Given the description of an element on the screen output the (x, y) to click on. 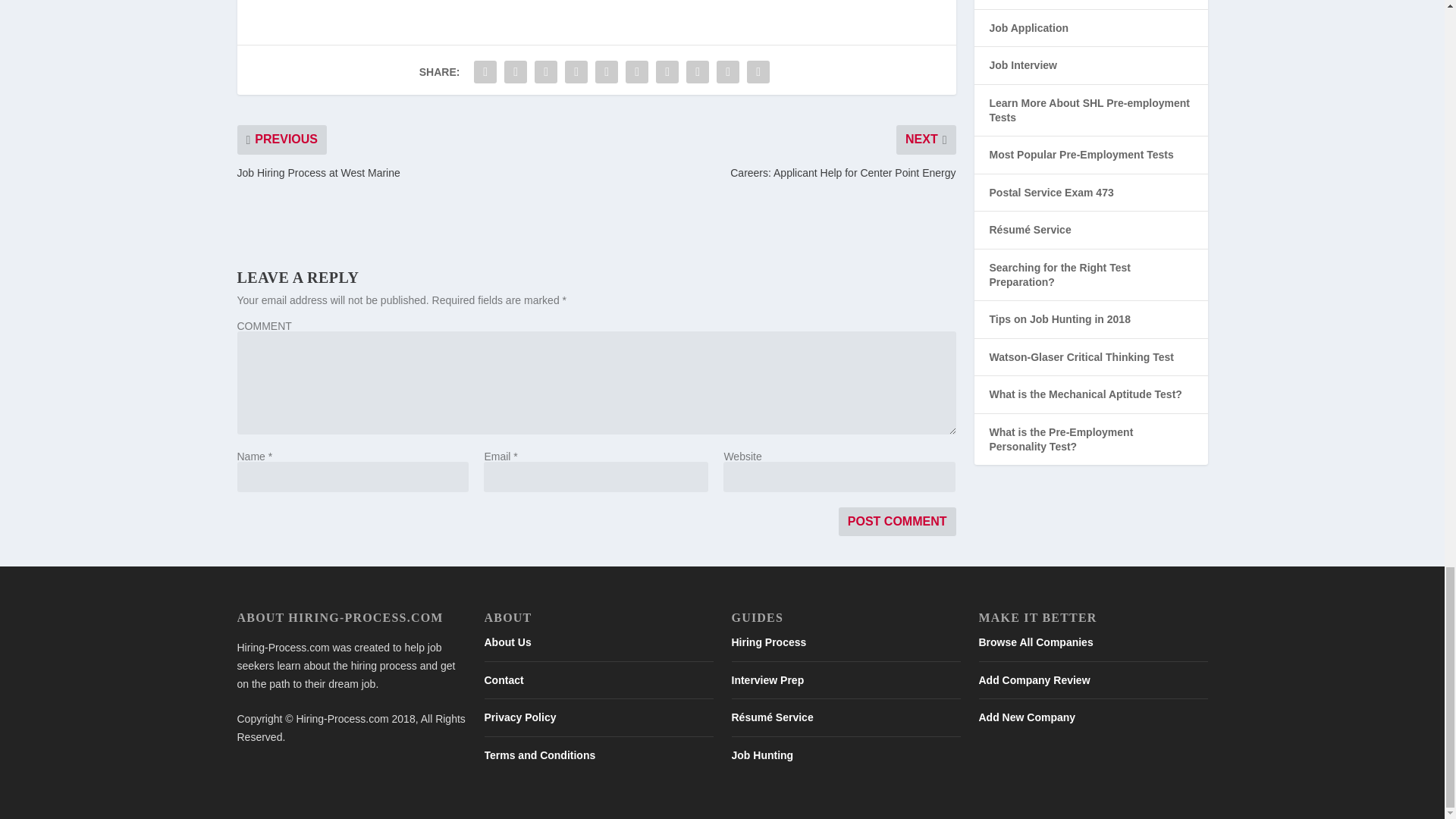
Post Comment (897, 521)
Post Comment (897, 521)
